Given the description of an element on the screen output the (x, y) to click on. 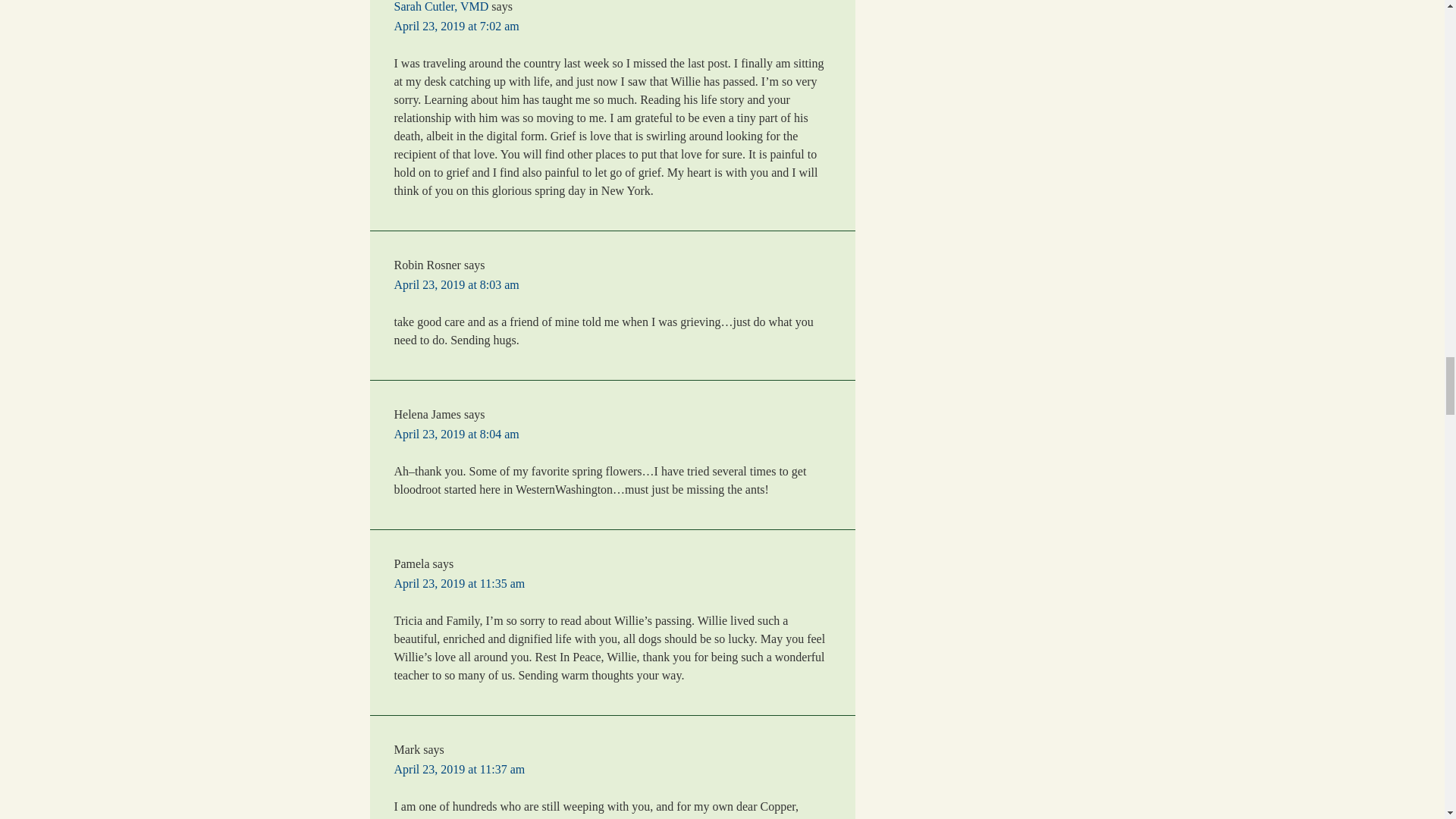
April 23, 2019 at 11:35 am (459, 583)
April 23, 2019 at 8:04 am (456, 433)
Sarah Cutler, VMD (441, 6)
April 23, 2019 at 8:03 am (456, 284)
April 23, 2019 at 7:02 am (456, 25)
April 23, 2019 at 11:37 am (459, 768)
